Given the description of an element on the screen output the (x, y) to click on. 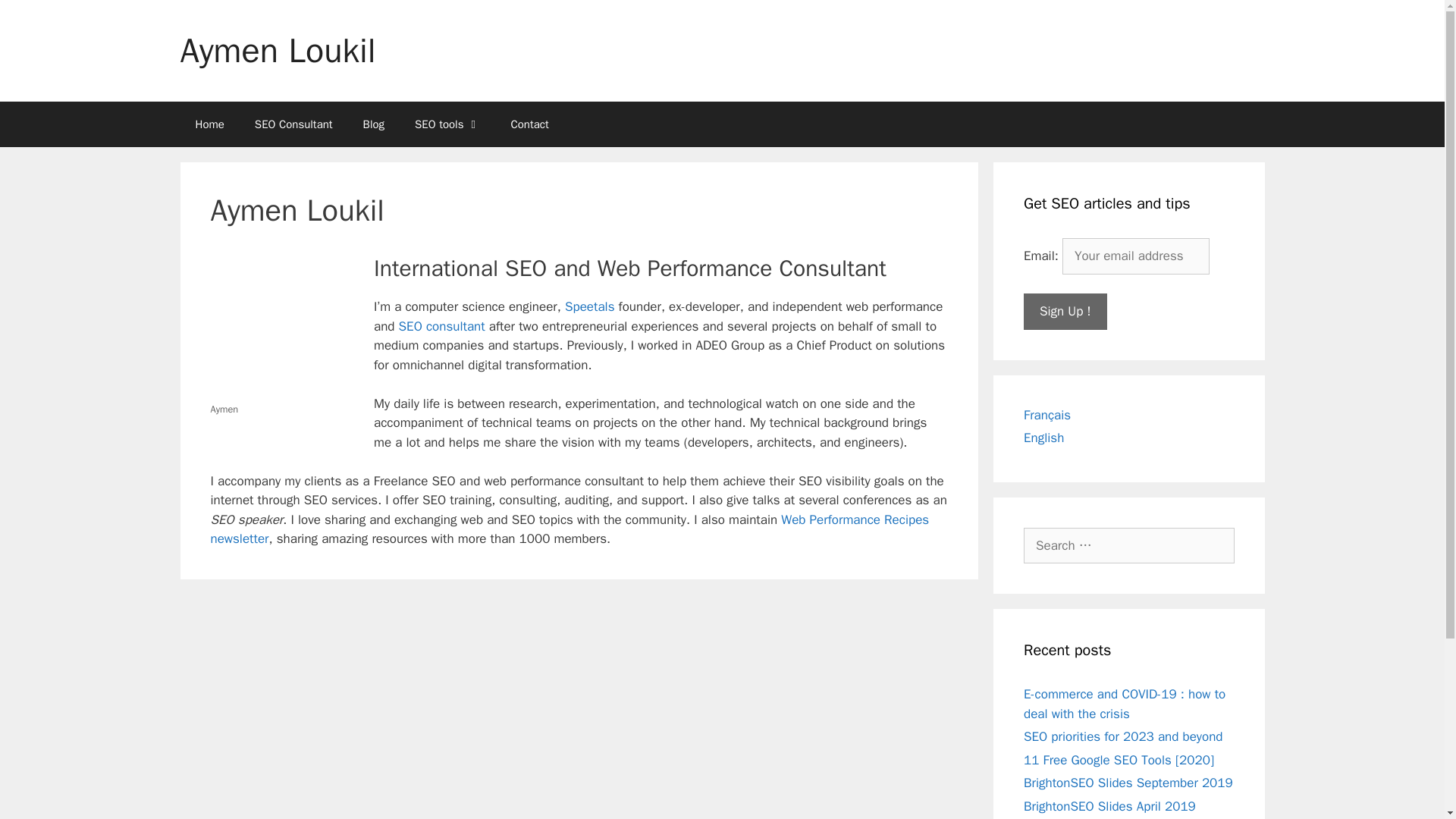
BrightonSEO Slides April 2019 (1109, 805)
BrightonSEO Slides September 2019 (1128, 782)
Search for: (1128, 545)
SEO Consultant (293, 124)
Home (210, 124)
Blog (372, 124)
Contact (530, 124)
Speetals (589, 306)
English (1043, 437)
SEO consultant (441, 326)
SEO tools (446, 124)
Sign Up ! (1064, 311)
SEO priorities for 2023 and beyond (1123, 736)
Aymen Loukil (277, 50)
E-commerce and COVID-19 : how to deal with the crisis (1124, 703)
